Given the description of an element on the screen output the (x, y) to click on. 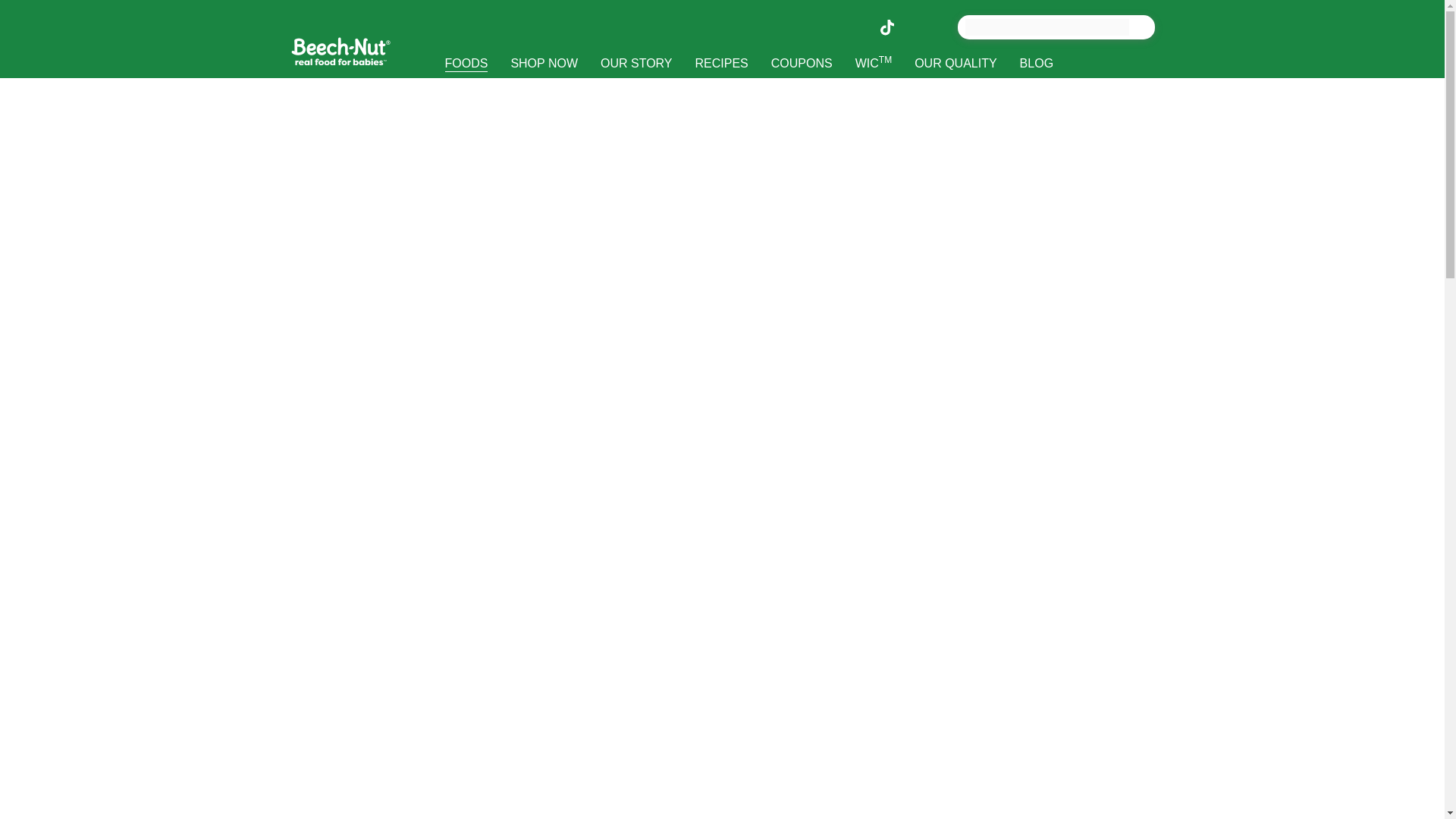
OUR QUALITY (954, 62)
SUBSCRIBE (479, 93)
BLOG (1036, 62)
COUPONS (802, 62)
FOODS (466, 62)
RECIPES (722, 62)
SHOP NOW (544, 62)
OUR STORY (636, 62)
WICTM (873, 62)
